Given the description of an element on the screen output the (x, y) to click on. 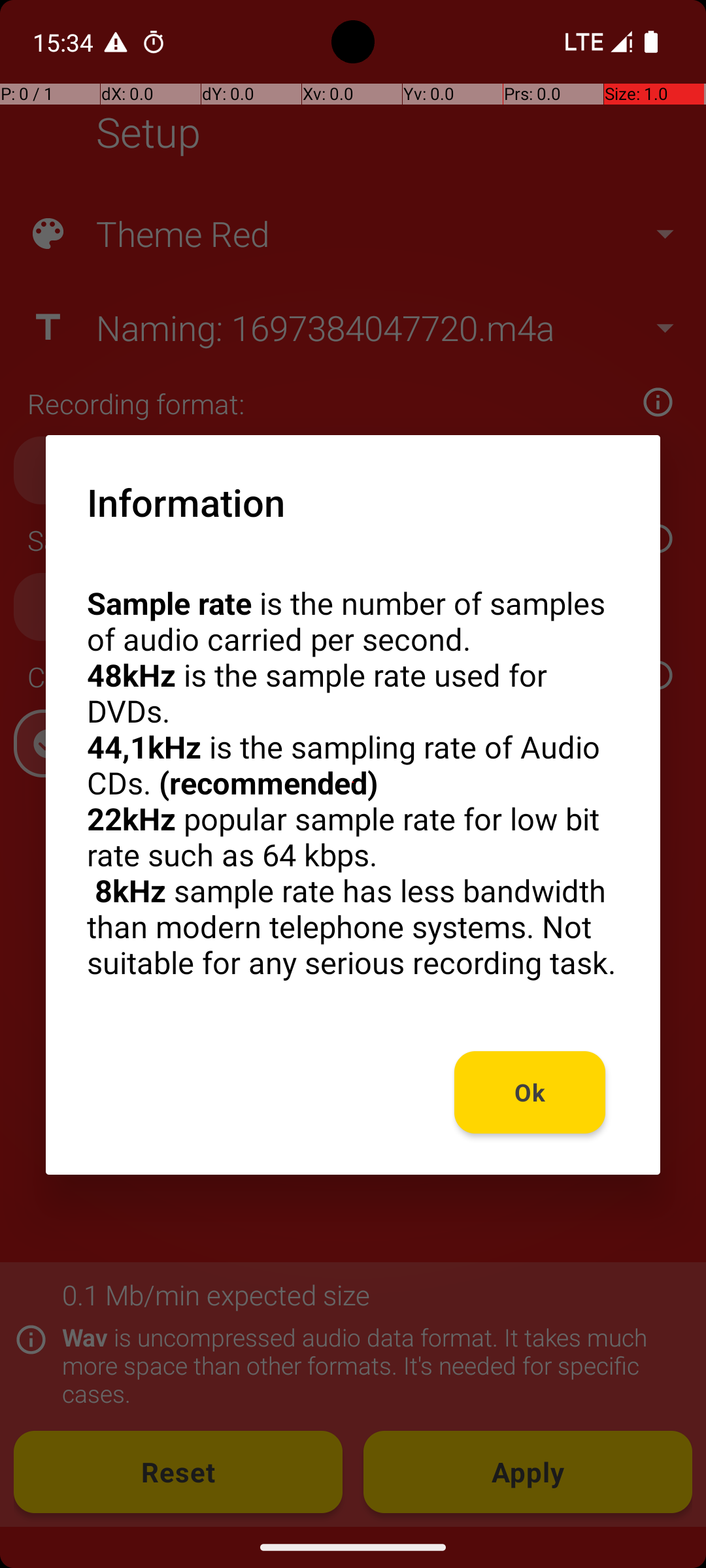
Information Element type: android.widget.TextView (185, 501)
Sample rate is the number of samples of audio carried per second. 
48kHz is the sample rate used for DVDs. 
44,1kHz is the sampling rate of Audio CDs. (recommended) 
22kHz popular sample rate for low bit rate such as 64 kbps. 
 8kHz sample rate has less bandwidth than modern telephone systems. Not suitable for any serious recording task.  Element type: android.widget.TextView (352, 782)
Ok Element type: android.widget.Button (529, 1092)
Clock notification:  Element type: android.widget.ImageView (153, 41)
Phone signal full. Element type: android.widget.FrameLayout (595, 41)
